Given the description of an element on the screen output the (x, y) to click on. 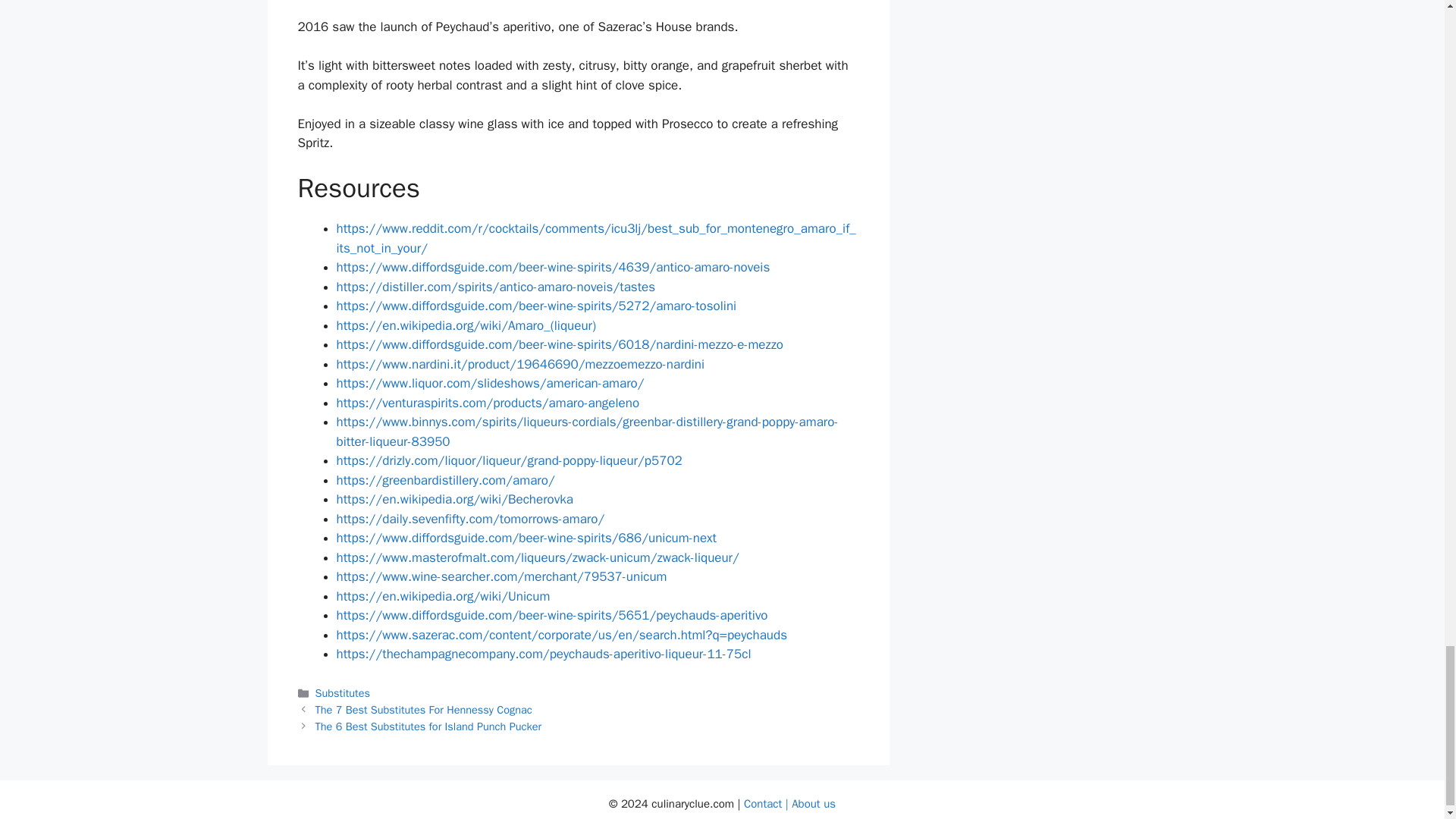
The 6 Best Substitutes for Island Punch Pucker (428, 726)
The 7 Best Substitutes For Hennessy Cognac (423, 709)
Previous (423, 709)
Next (428, 726)
Substitutes (342, 693)
